Given the description of an element on the screen output the (x, y) to click on. 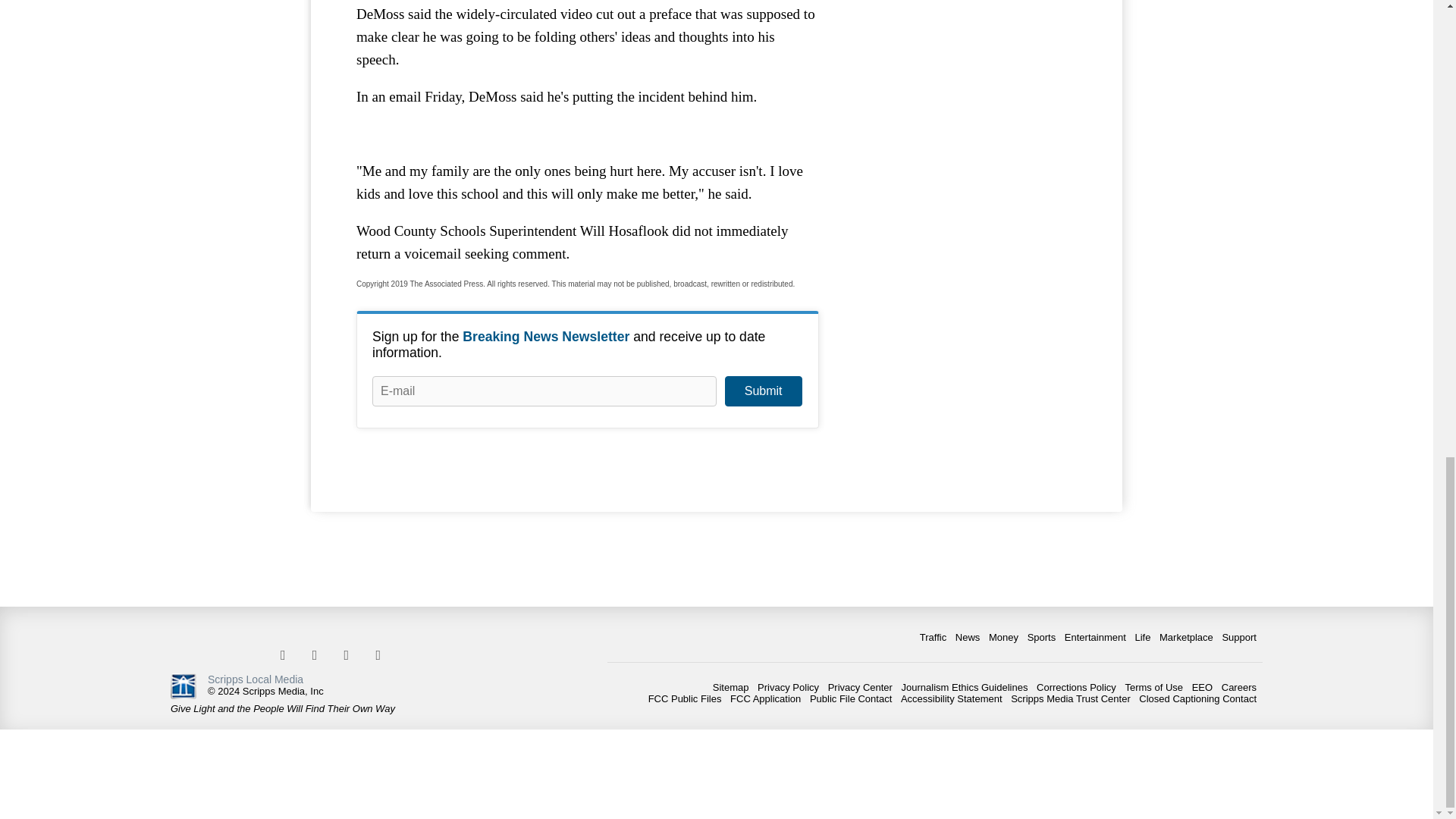
Submit (763, 390)
